Given the description of an element on the screen output the (x, y) to click on. 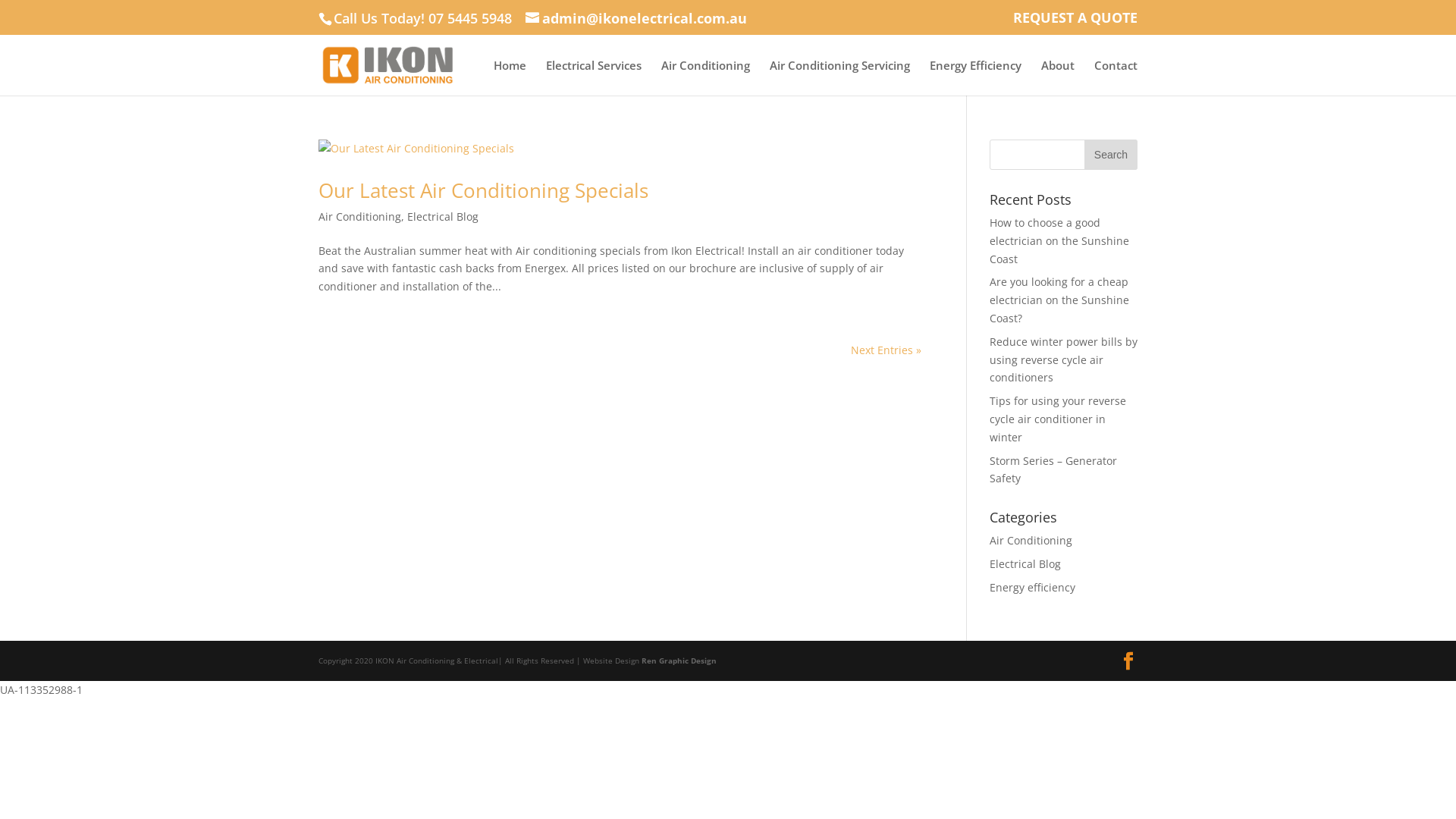
Our Latest Air Conditioning Specials Element type: text (483, 189)
How to choose a good electrician on the Sunshine Coast Element type: text (1059, 240)
Ren Graphic Design Element type: text (678, 660)
Air Conditioning Element type: text (359, 216)
Search Element type: text (1110, 154)
Energy efficiency Element type: text (1032, 587)
Contact Element type: text (1115, 77)
admin@ikonelectrical.com.au Element type: text (635, 18)
About Element type: text (1057, 77)
Air Conditioning Element type: text (705, 77)
Electrical Services Element type: text (593, 77)
Air Conditioning Element type: text (1030, 540)
Home Element type: text (509, 77)
REQUEST A QUOTE Element type: text (1075, 22)
Energy Efficiency Element type: text (975, 77)
Electrical Blog Element type: text (1024, 563)
Air Conditioning Servicing Element type: text (839, 77)
Electrical Blog Element type: text (442, 216)
Tips for using your reverse cycle air conditioner in winter Element type: text (1057, 418)
